Given the description of an element on the screen output the (x, y) to click on. 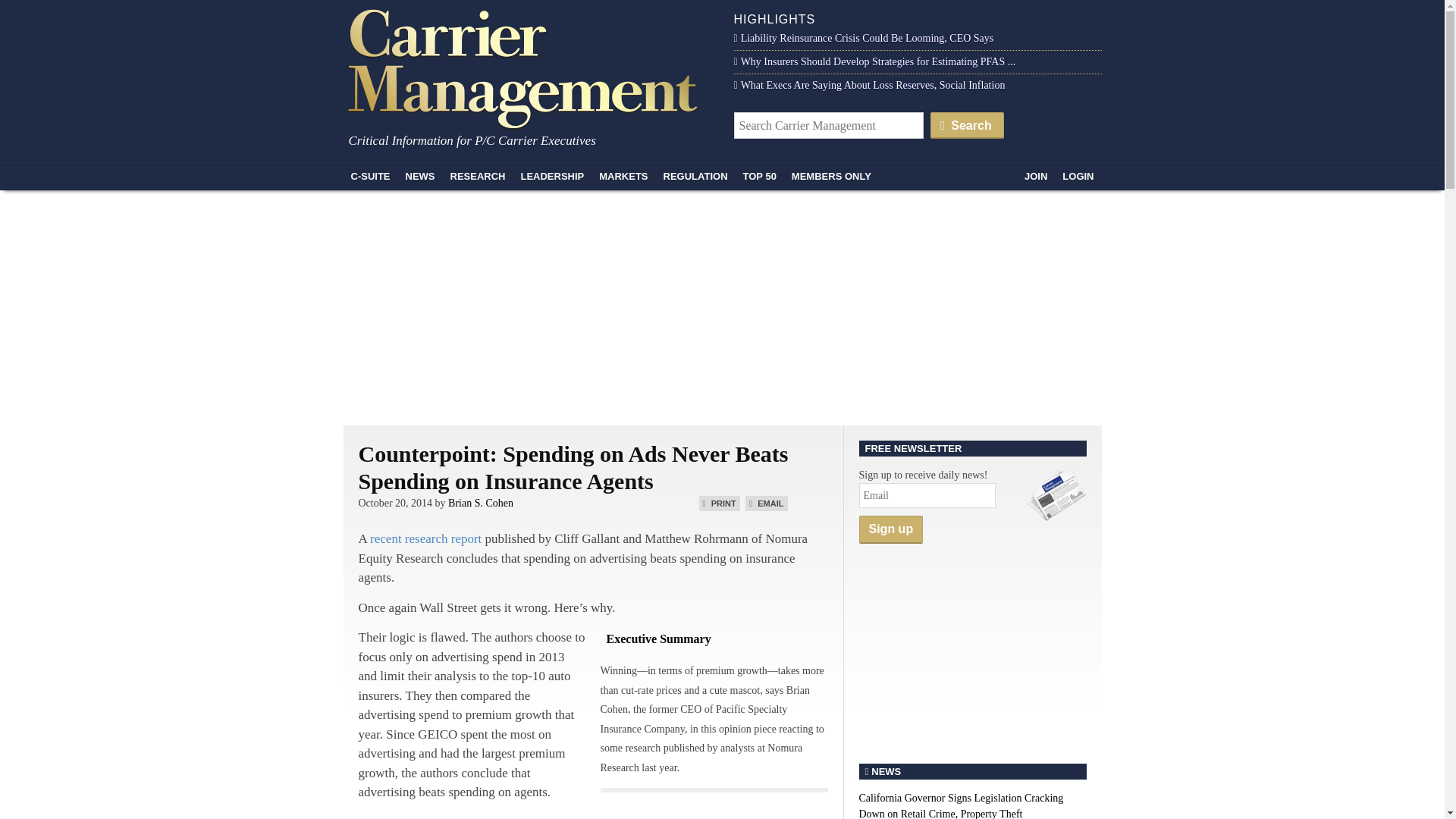
Liability Reinsurance Crisis Could Be Looming, CEO Says (863, 38)
NEWS (419, 176)
Carrier Management (527, 67)
LEADERSHIP (551, 176)
What Execs Are Saying About Loss Reserves, Social Inflation (869, 84)
MEMBERS ONLY (831, 176)
C-SUITE (369, 176)
REGULATION (695, 176)
